Given the description of an element on the screen output the (x, y) to click on. 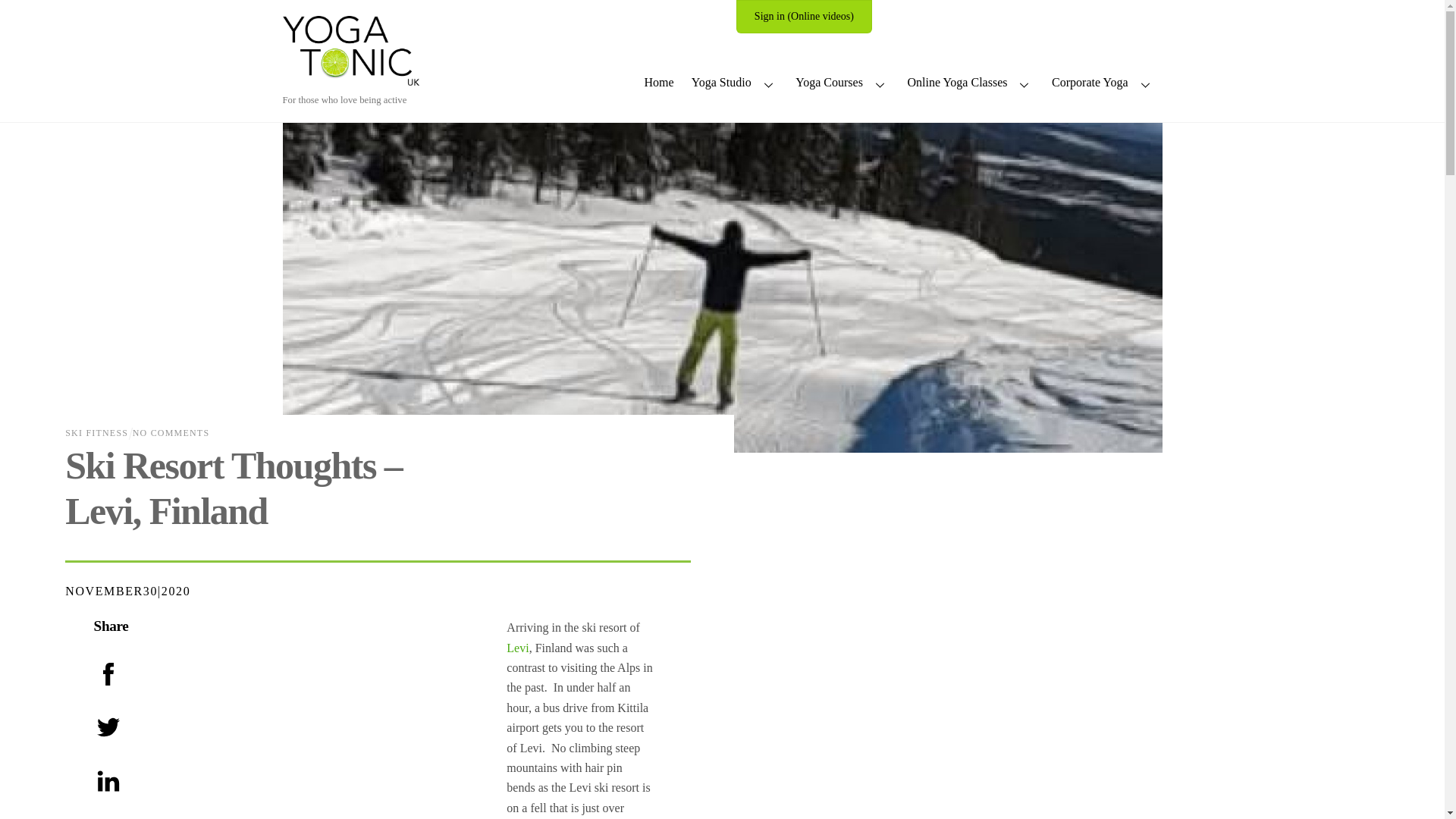
Yoga Courses (842, 83)
NO COMMENTS (170, 432)
Levi (517, 647)
Home (659, 83)
Yoga Studio (734, 83)
Corporate Yoga (1102, 83)
YogaTonic UK (350, 78)
Yoga-Tonic-Logo-V1-Trans-Shadow-Black (350, 50)
SKI FITNESS (96, 432)
